Given the description of an element on the screen output the (x, y) to click on. 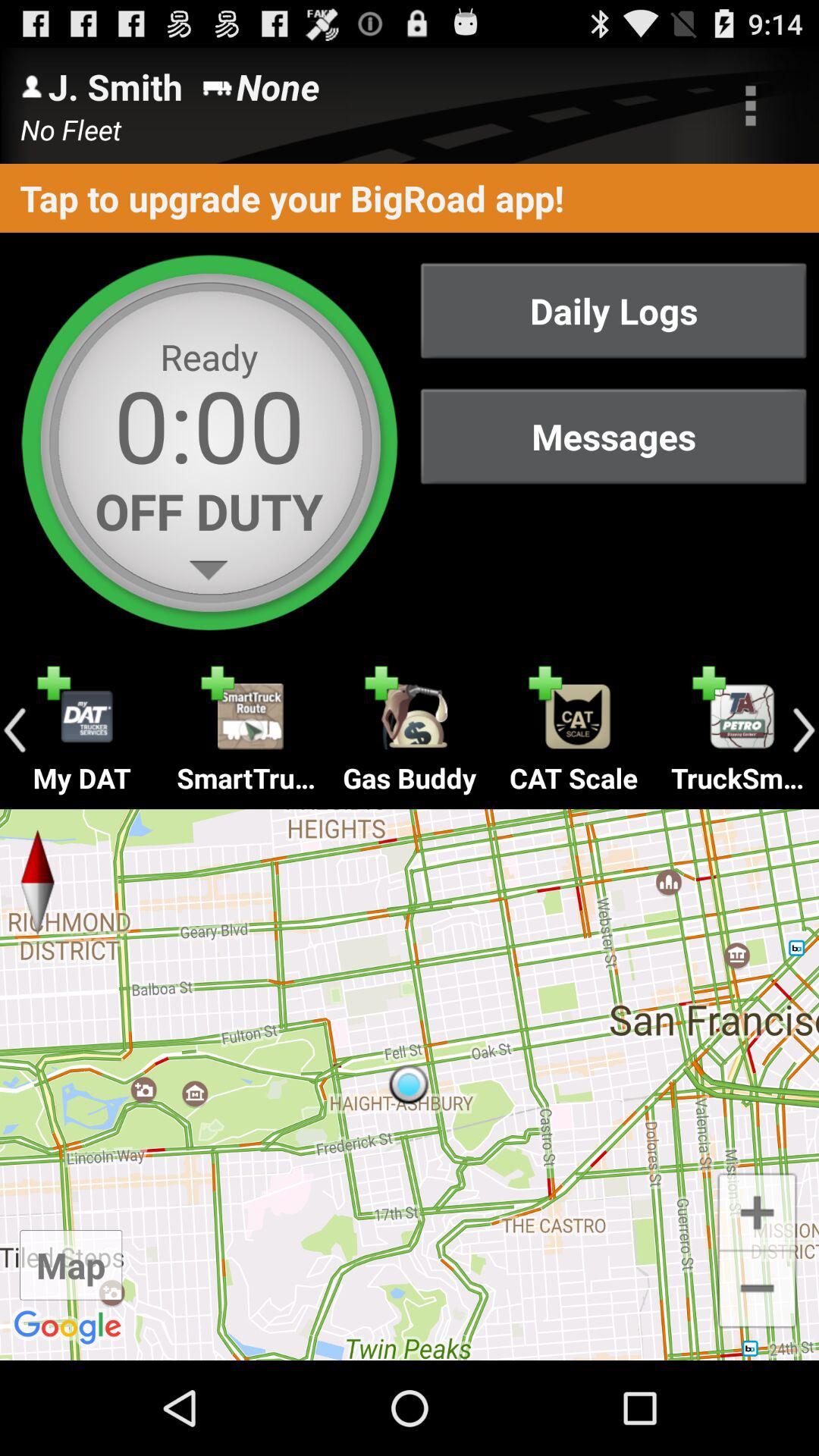
flip to the tap to upgrade icon (409, 197)
